Given the description of an element on the screen output the (x, y) to click on. 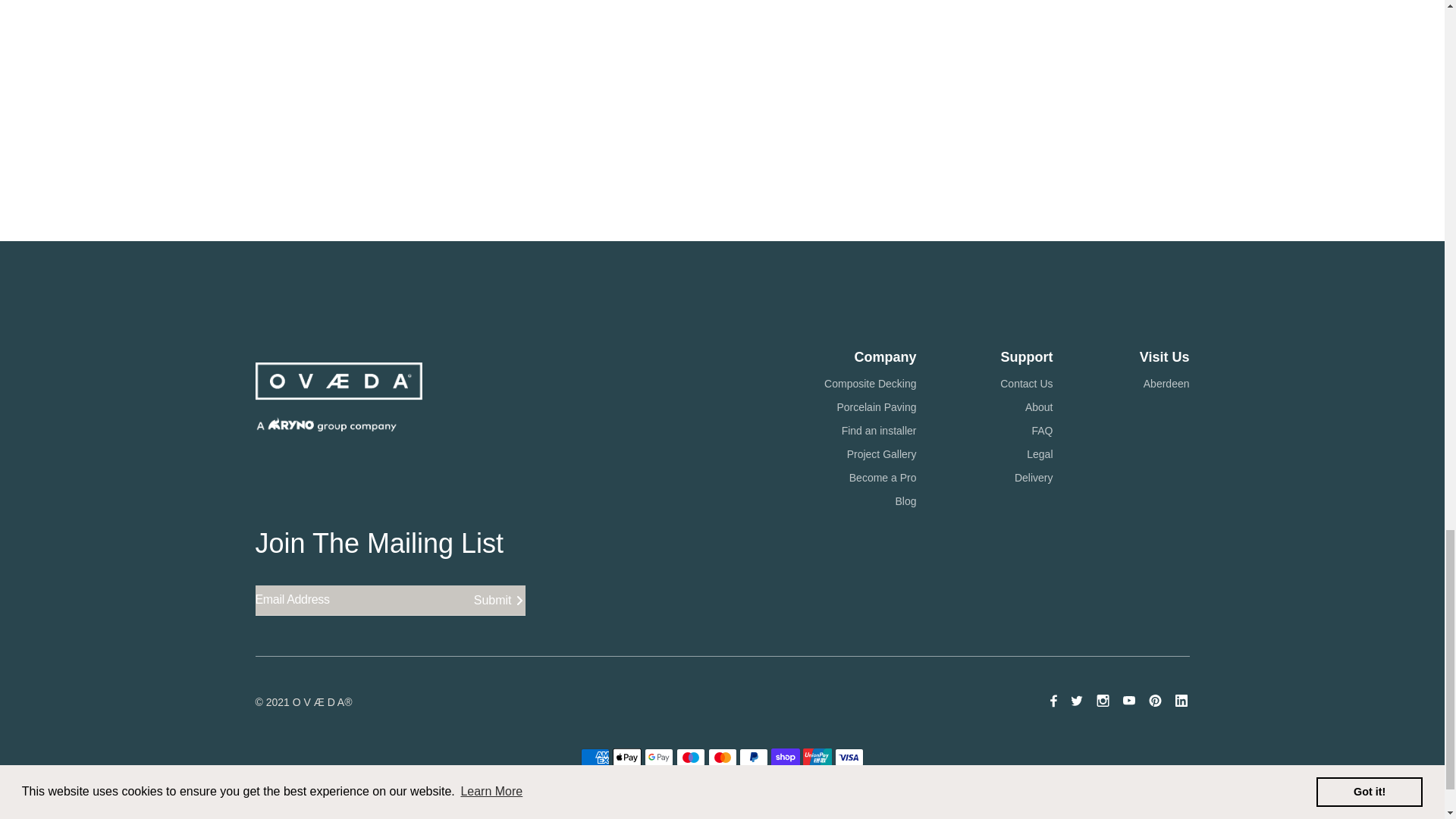
American Express (595, 757)
